Given the description of an element on the screen output the (x, y) to click on. 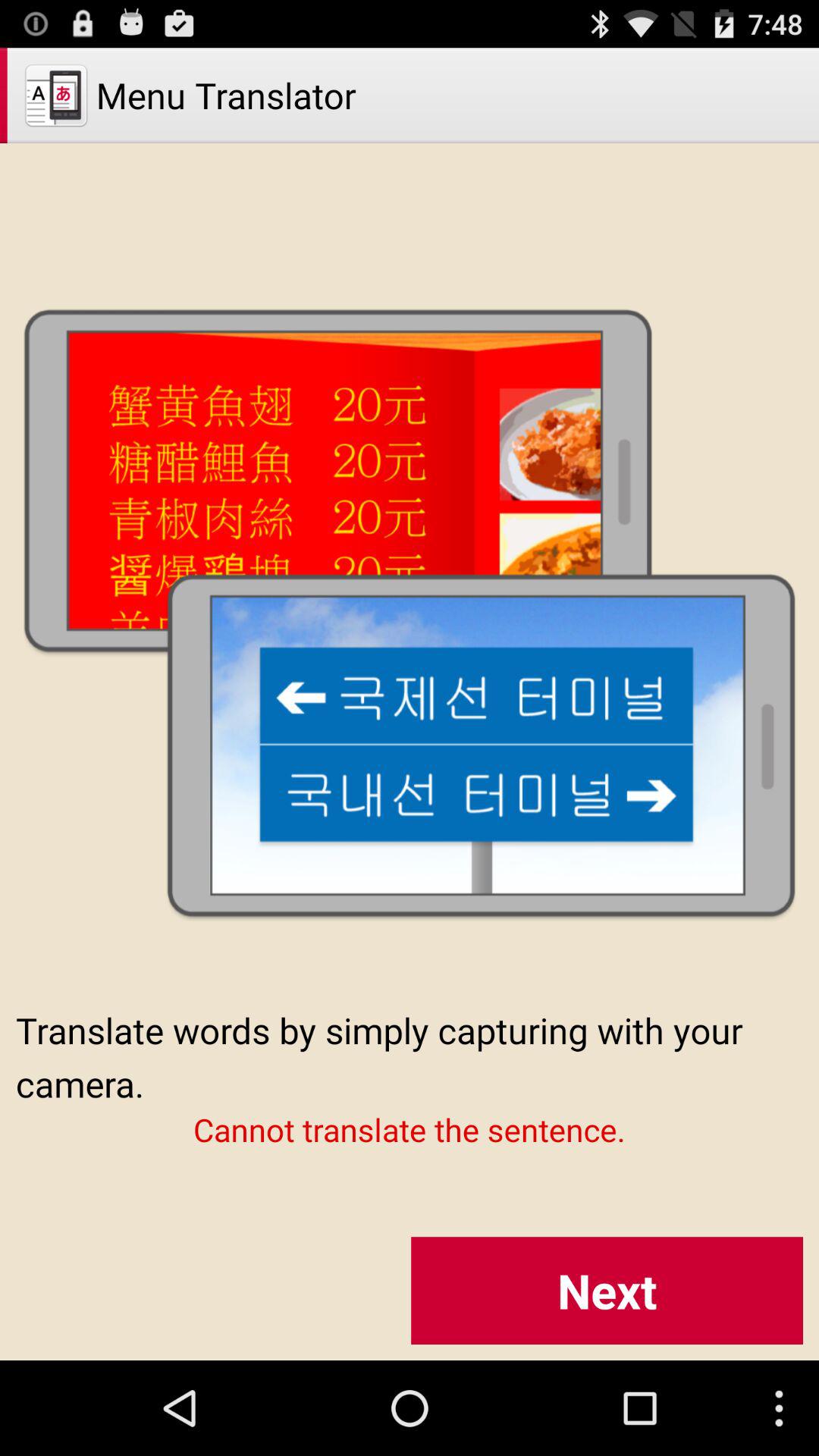
flip until next (607, 1290)
